Given the description of an element on the screen output the (x, y) to click on. 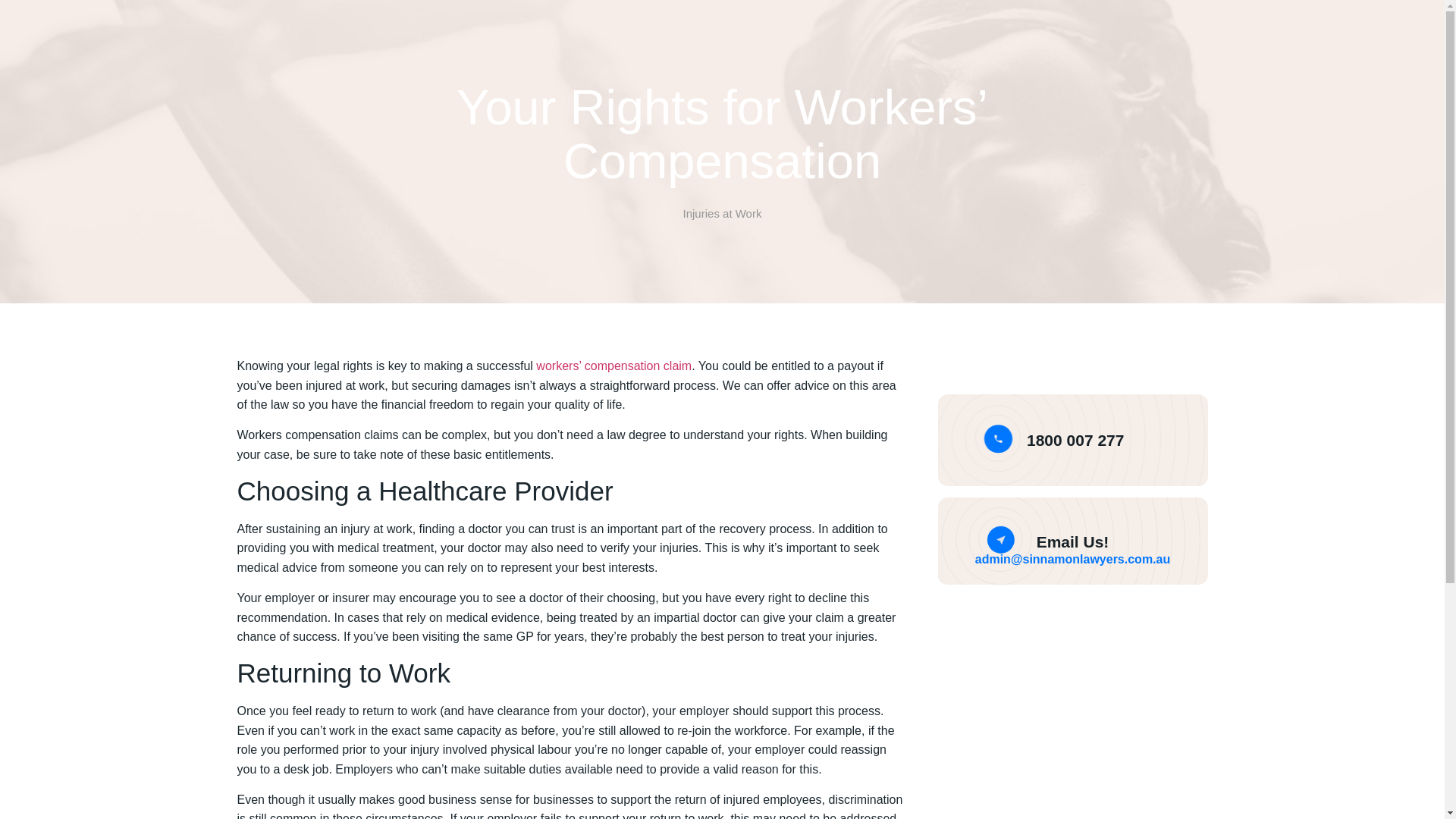
Email Us! (1072, 541)
1800 007 277 (1075, 439)
worker (553, 365)
